Given the description of an element on the screen output the (x, y) to click on. 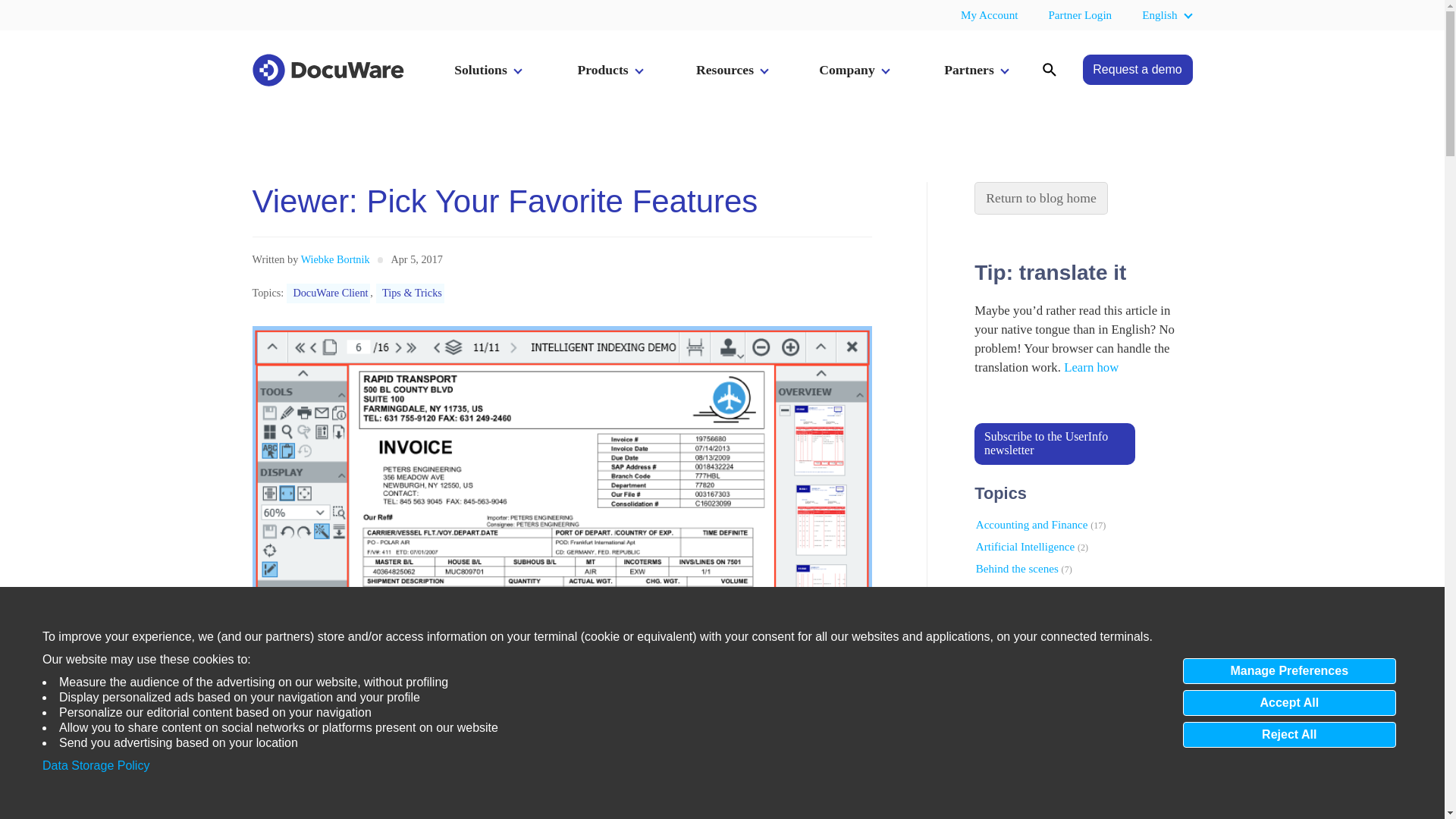
Data Storage Policy (95, 765)
Partner Login (1079, 15)
Accept All (1289, 702)
English (1159, 15)
Products (607, 69)
Reject All (1289, 734)
Manage Preferences (1289, 670)
My Account (988, 15)
Request a demo (1137, 69)
Solutions (484, 69)
